Given the description of an element on the screen output the (x, y) to click on. 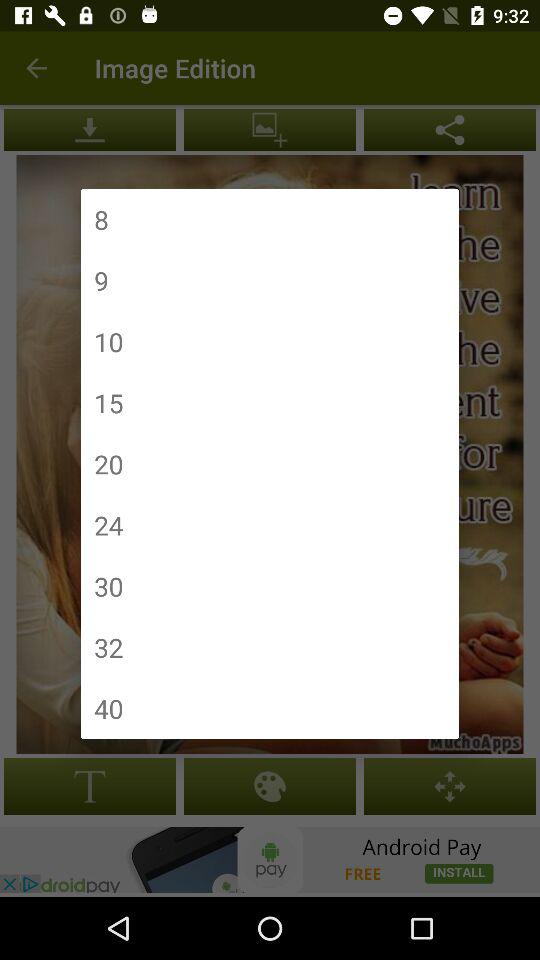
launch the icon below the 20 (108, 524)
